Given the description of an element on the screen output the (x, y) to click on. 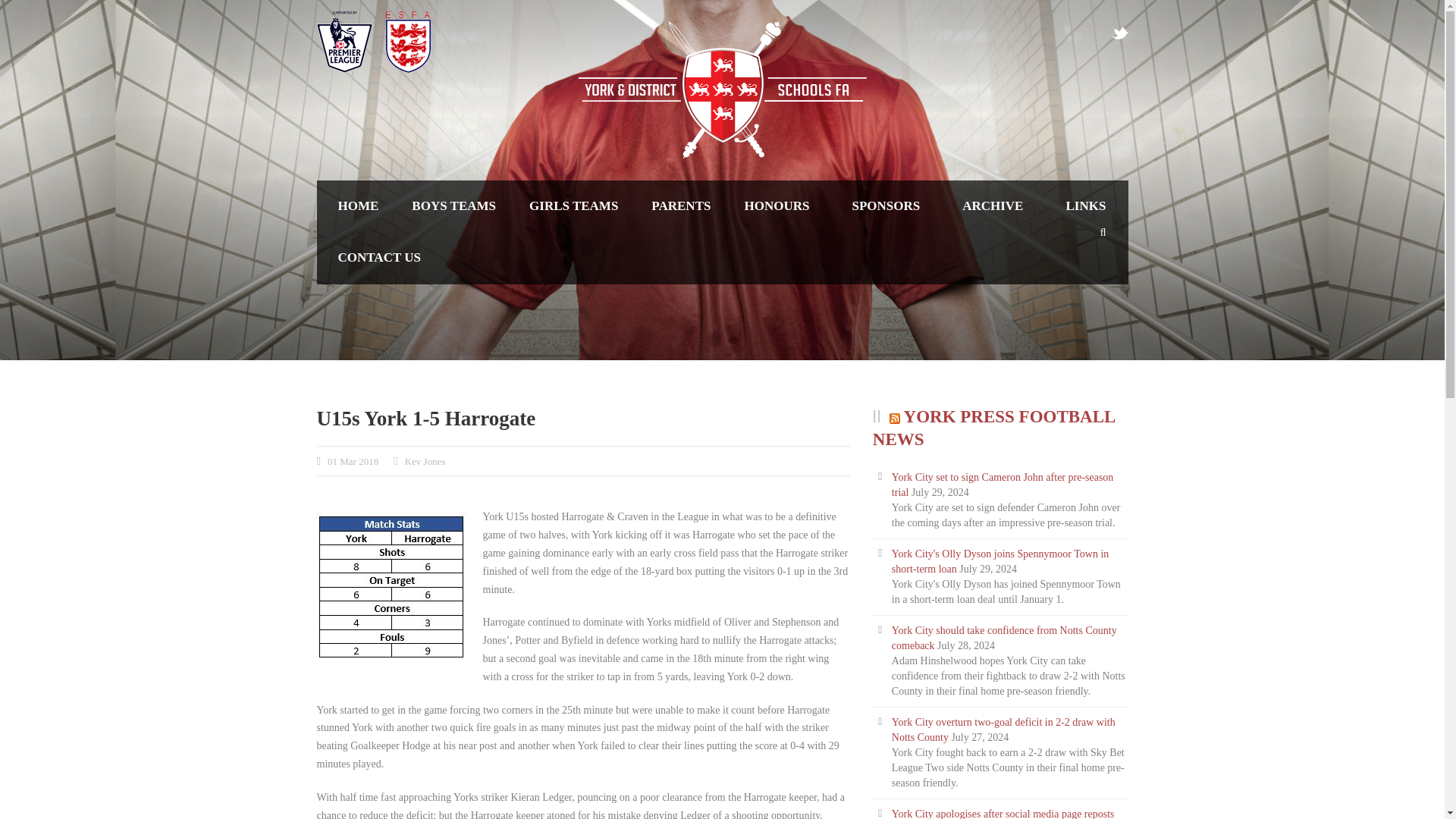
Posts by Kev Jones (424, 460)
